Given the description of an element on the screen output the (x, y) to click on. 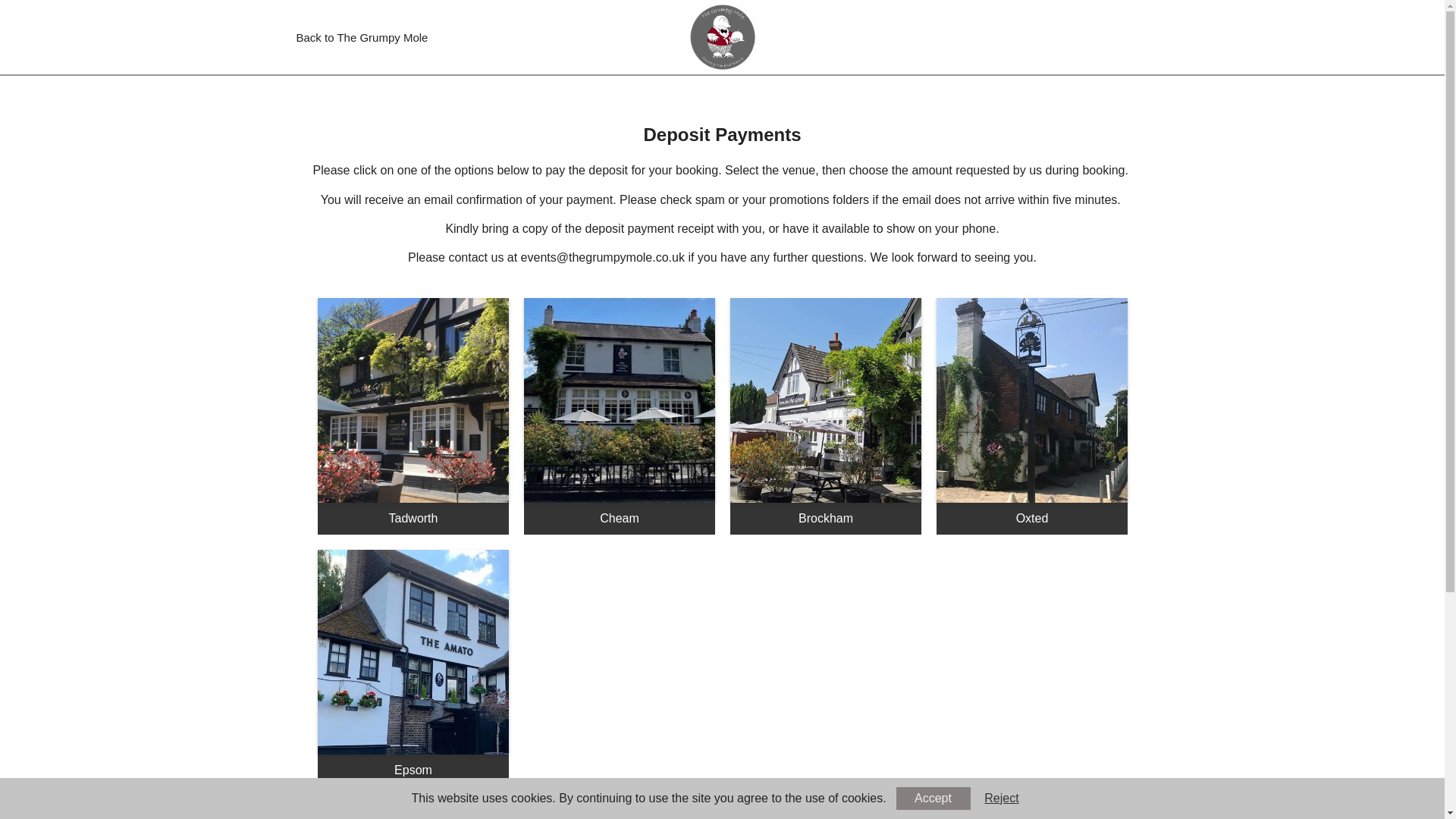
Accept (933, 798)
Reject (1002, 798)
Back to The Grumpy Mole (361, 36)
